Given the description of an element on the screen output the (x, y) to click on. 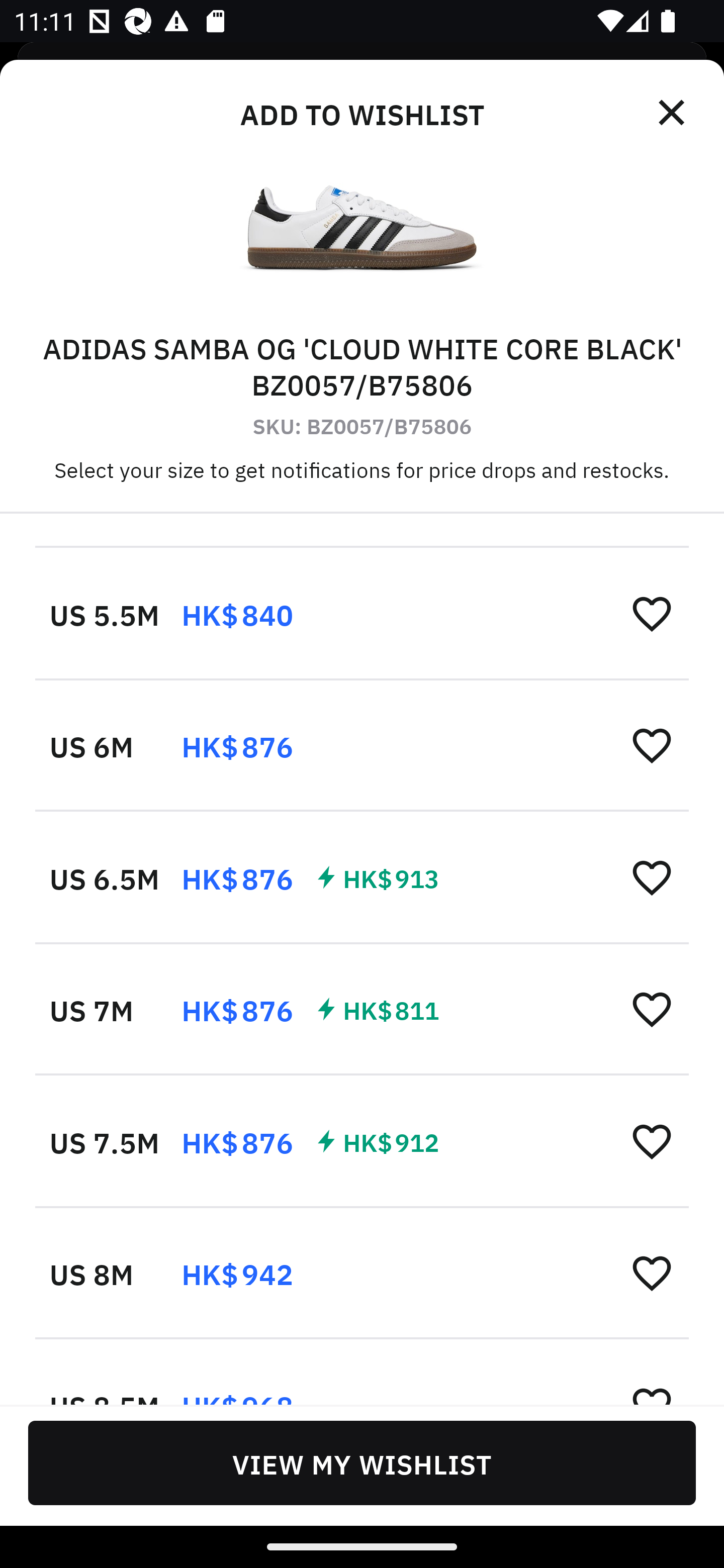
 (672, 112)
󰋕 (651, 613)
󰋕 (651, 745)
󰋕 (651, 877)
󰋕 (651, 1008)
󰋕 (651, 1140)
󰋕 (651, 1272)
VIEW MY WISHLIST (361, 1462)
